Given the description of an element on the screen output the (x, y) to click on. 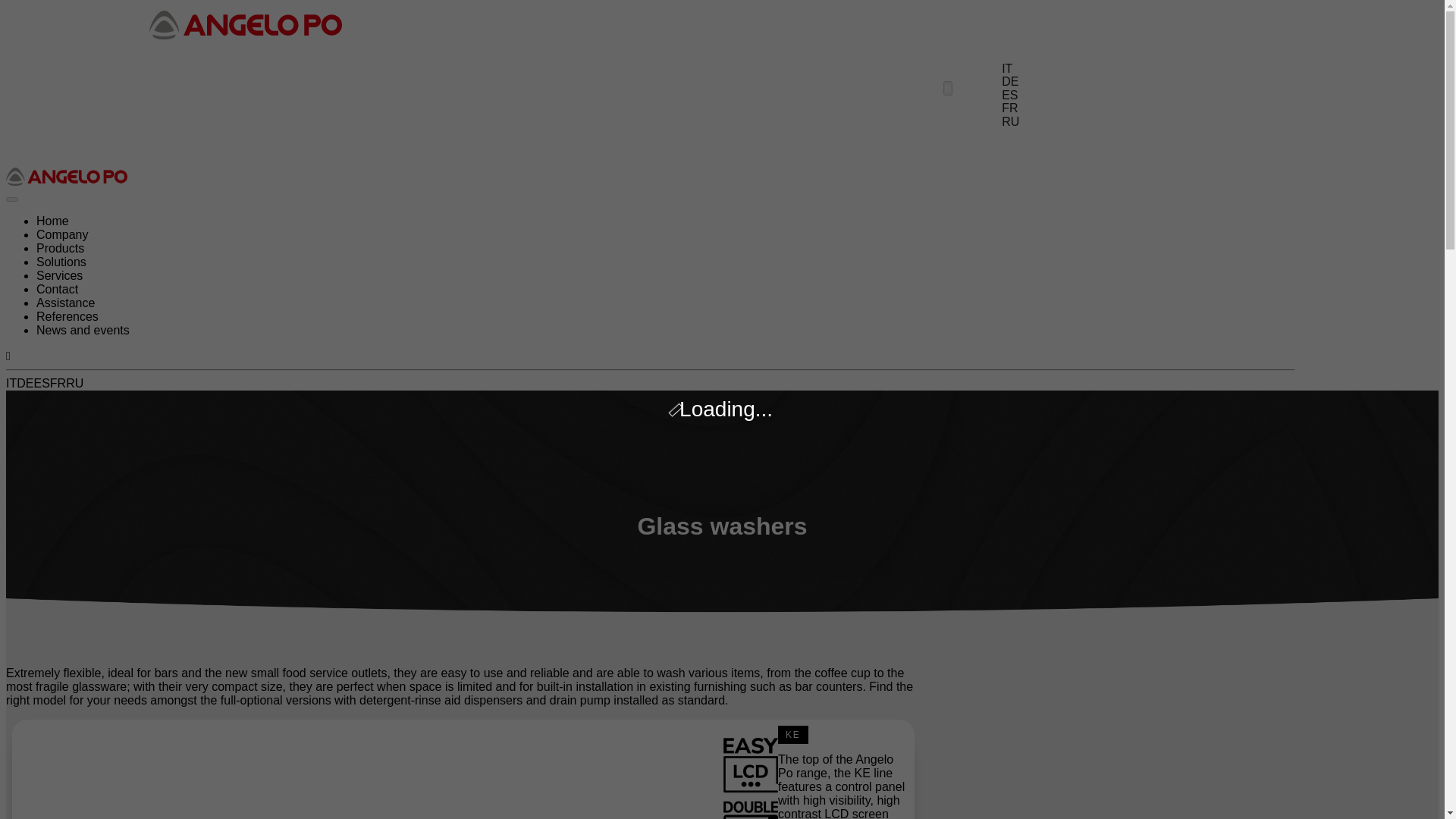
Products (60, 247)
Solutions (60, 261)
Home (52, 220)
References (67, 316)
References (772, 88)
Products (762, 148)
Company (61, 234)
FR (57, 382)
News and events (82, 329)
Company (674, 148)
